Given the description of an element on the screen output the (x, y) to click on. 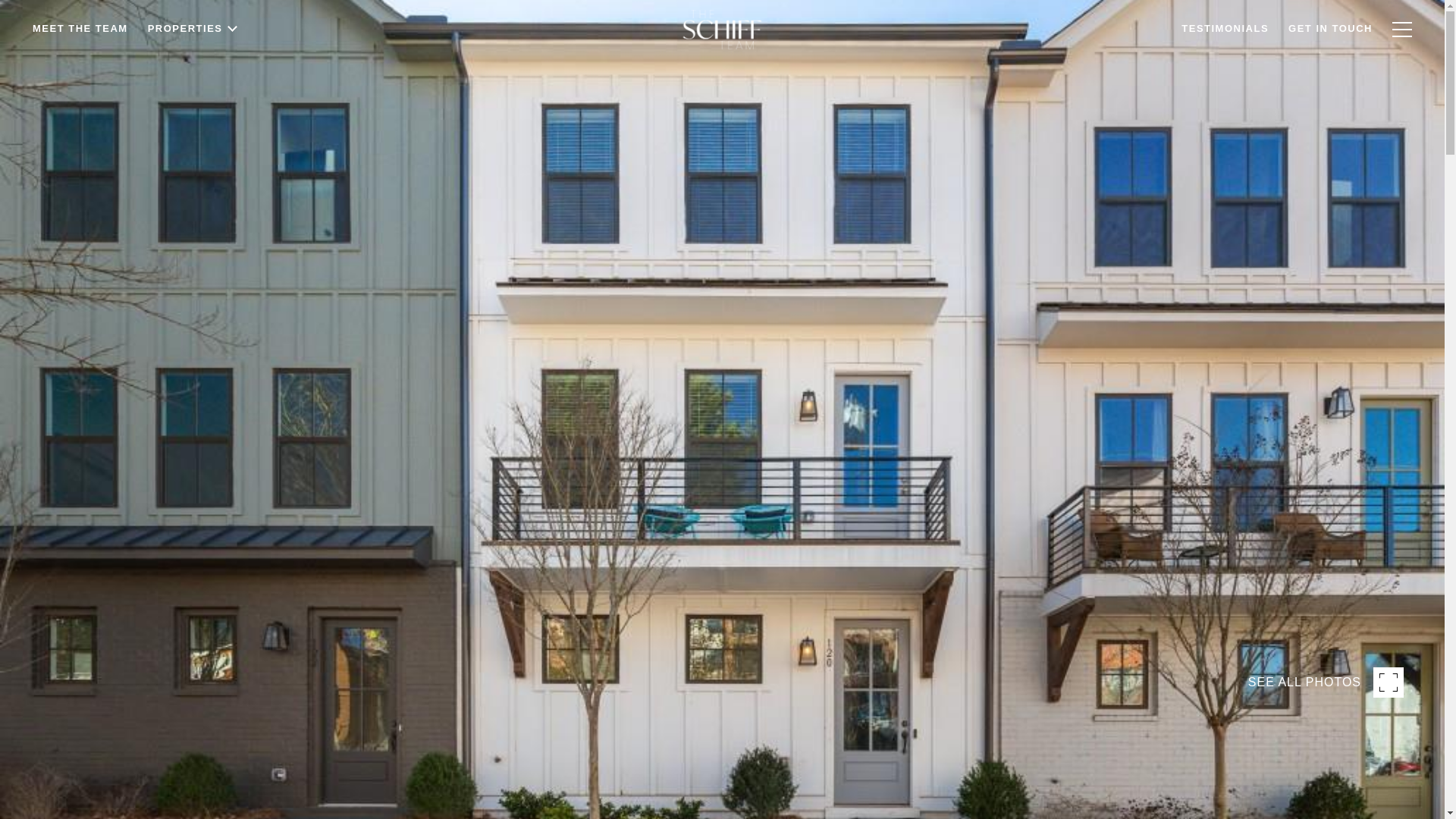
GET IN TOUCH (1329, 55)
MEET THE TEAM (80, 69)
TESTIMONIALS (1225, 58)
PROPERTIES (194, 69)
